Given the description of an element on the screen output the (x, y) to click on. 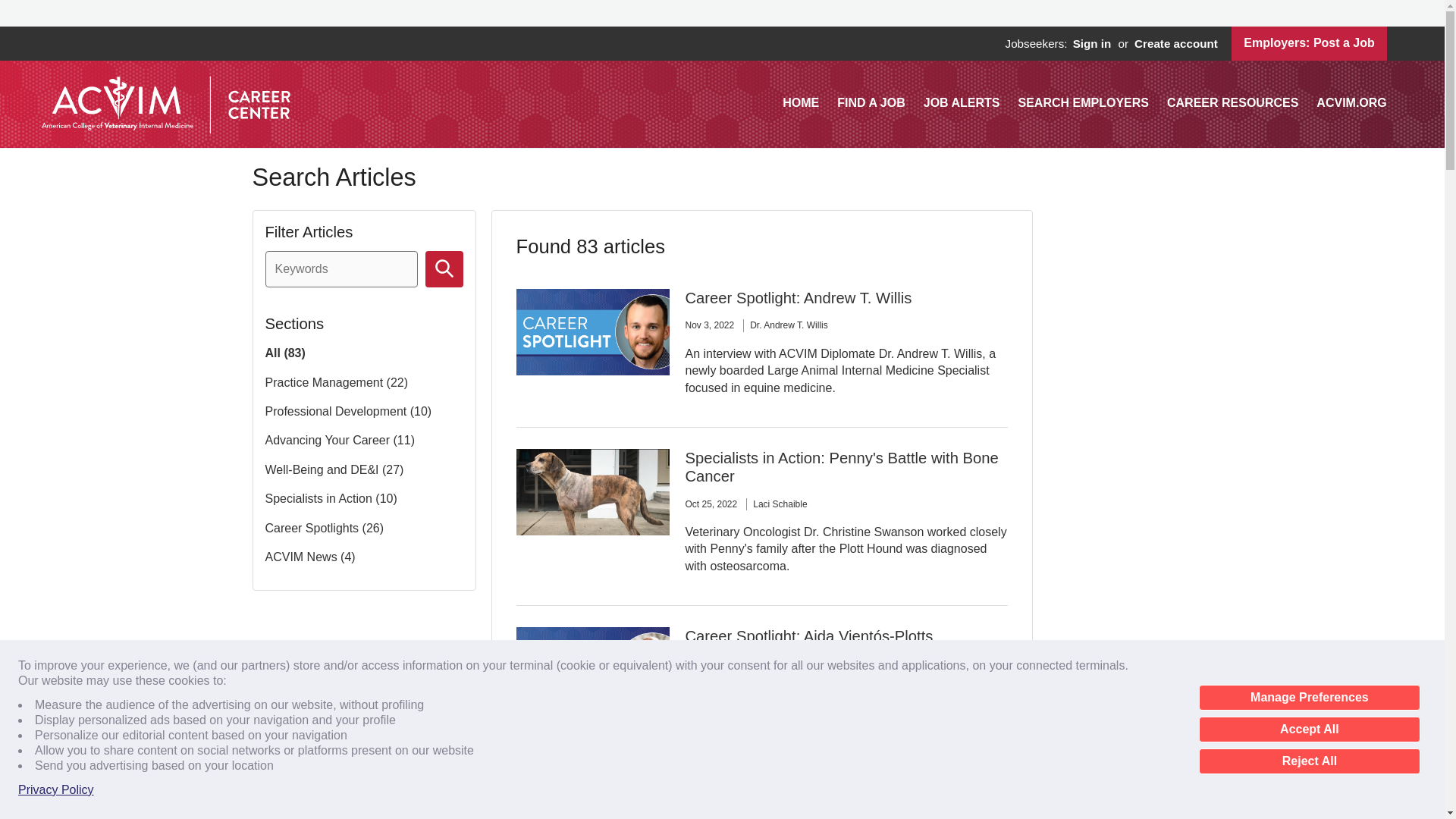
Career Spotlight: Andrew T. Willis (797, 297)
Reject All (1309, 760)
Specialists in Action: Penny's Battle with Bone Cancer (840, 466)
Manage Preferences (1309, 697)
CAREER RESOURCES (1232, 102)
JOB ALERTS (961, 102)
ACVIM.ORG (1351, 102)
FIND A JOB (870, 102)
Privacy Policy (55, 789)
Employers: Post a Job (1309, 43)
Sign in (1091, 43)
Create account (1176, 43)
ACVIM Career Center (165, 103)
HOME (800, 102)
Accept All (1309, 729)
